Given the description of an element on the screen output the (x, y) to click on. 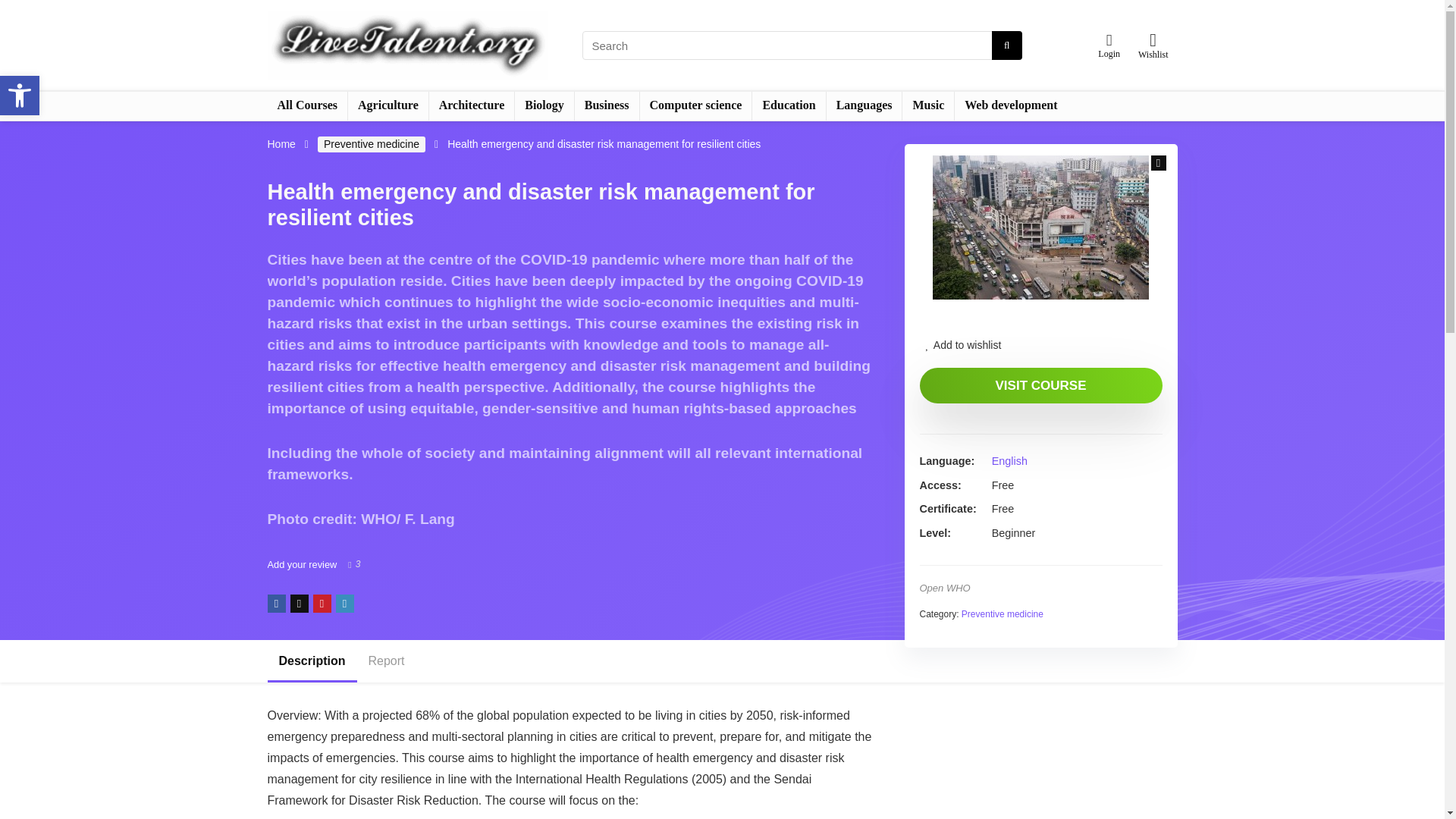
Preventive medicine (1001, 614)
Open WHO (943, 587)
Description Report (569, 660)
Preventive medicine (371, 144)
Description (311, 660)
Biology (544, 105)
Web development (1011, 105)
Accessibility Tools (19, 95)
Business (607, 105)
Music (927, 105)
